Given the description of an element on the screen output the (x, y) to click on. 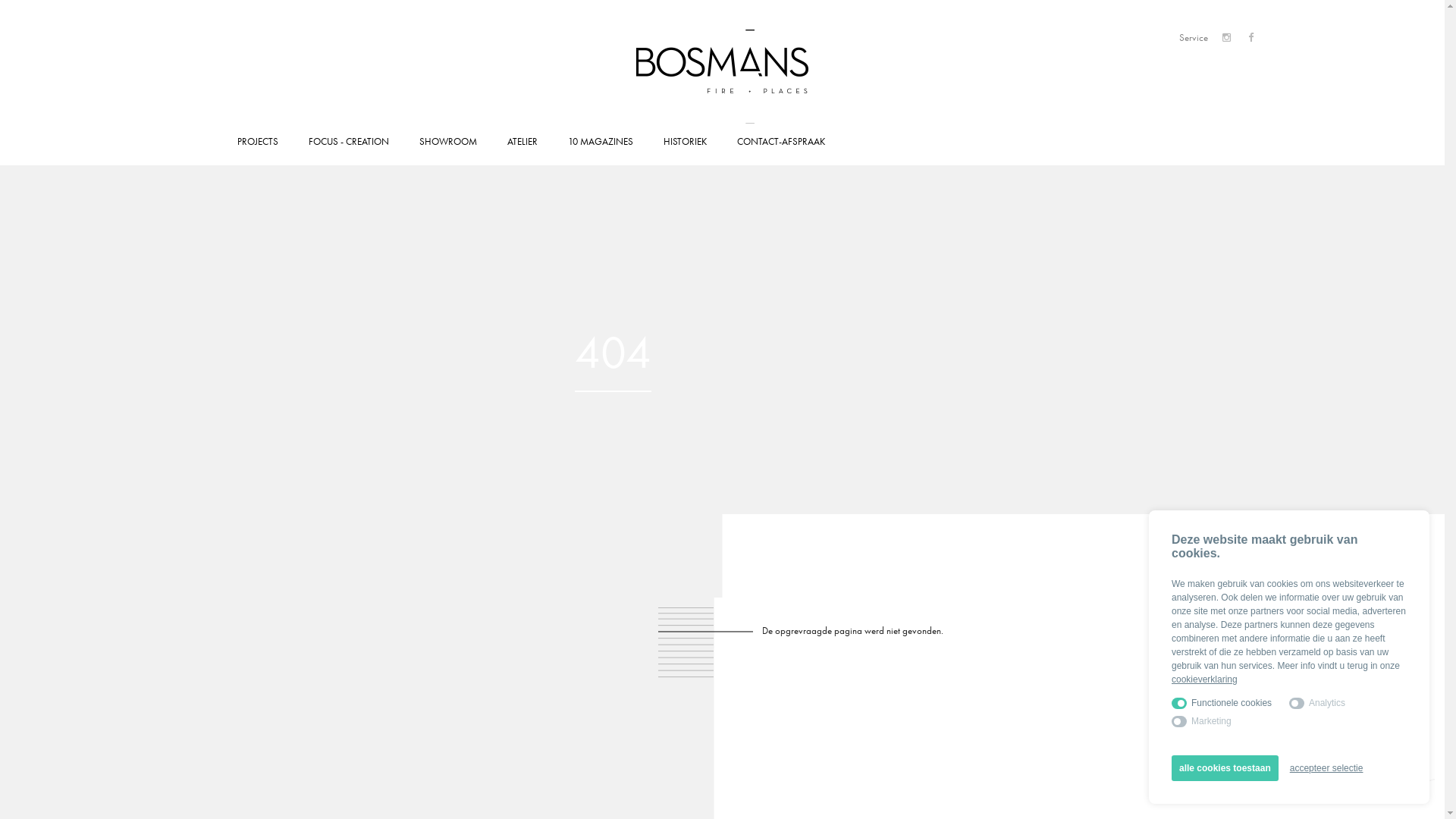
10 MAGAZINES Element type: text (599, 141)
CONTACT-AFSPRAAK Element type: text (781, 141)
accepteer selectie Element type: text (1326, 768)
Service Element type: text (1192, 37)
HISTORIEK Element type: text (684, 141)
ATELIER Element type: text (521, 141)
cookieverklaring Element type: text (1204, 679)
FOCUS - CREATION Element type: text (347, 141)
Webdesign + fotografie: www.cafeine.be Element type: text (1421, 787)
alle cookies toestaan Element type: text (1224, 768)
Bosmanshaarden - Fire + places Element type: text (722, 71)
SHOWROOM Element type: text (447, 141)
PROJECTS Element type: text (256, 141)
